Given the description of an element on the screen output the (x, y) to click on. 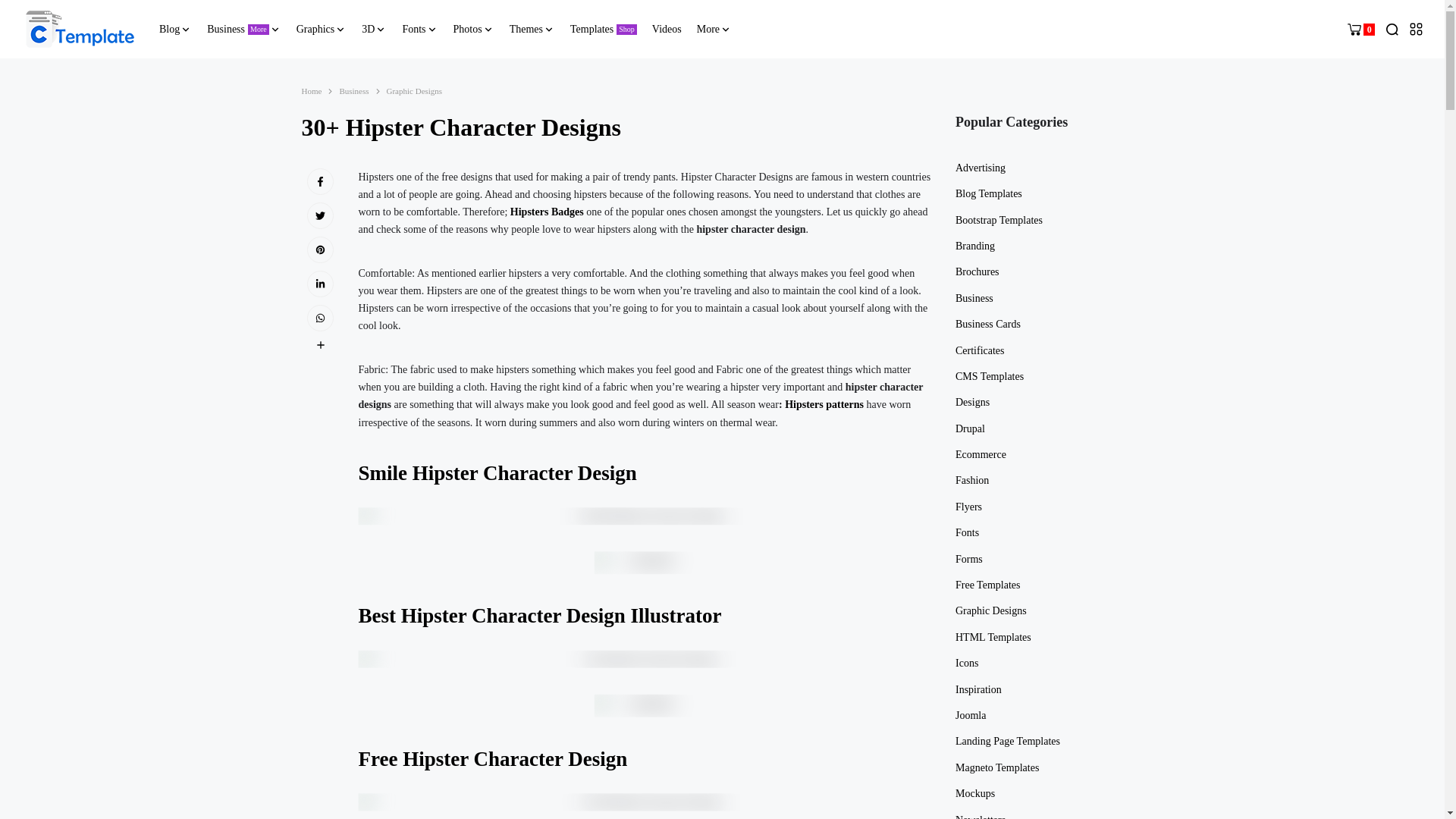
CreativeTemplate (79, 28)
Cart (1360, 28)
